Given the description of an element on the screen output the (x, y) to click on. 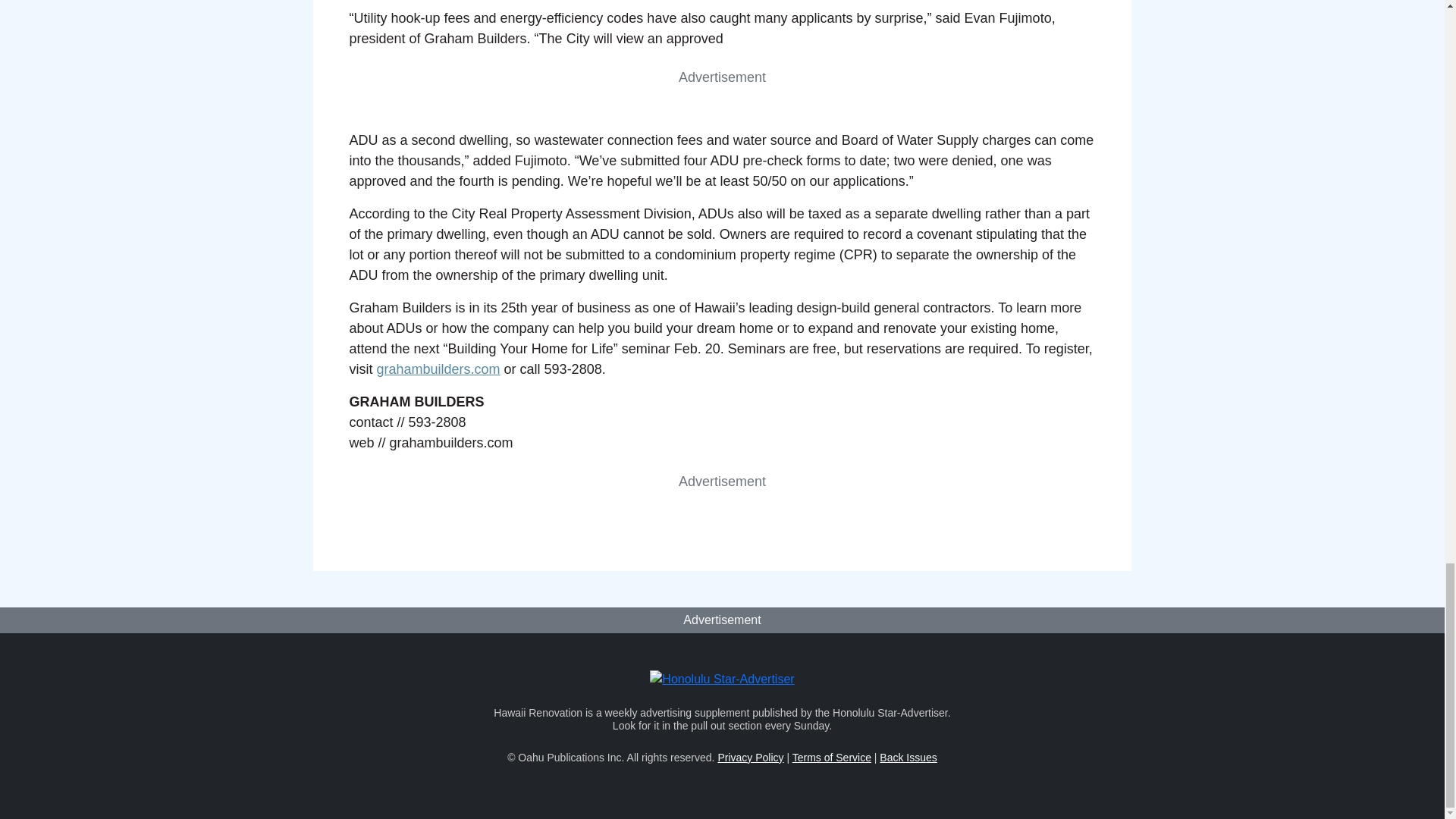
Terms of Service (831, 757)
Back Issues (907, 757)
grahambuilders.com (437, 368)
Privacy Policy (750, 757)
